Given the description of an element on the screen output the (x, y) to click on. 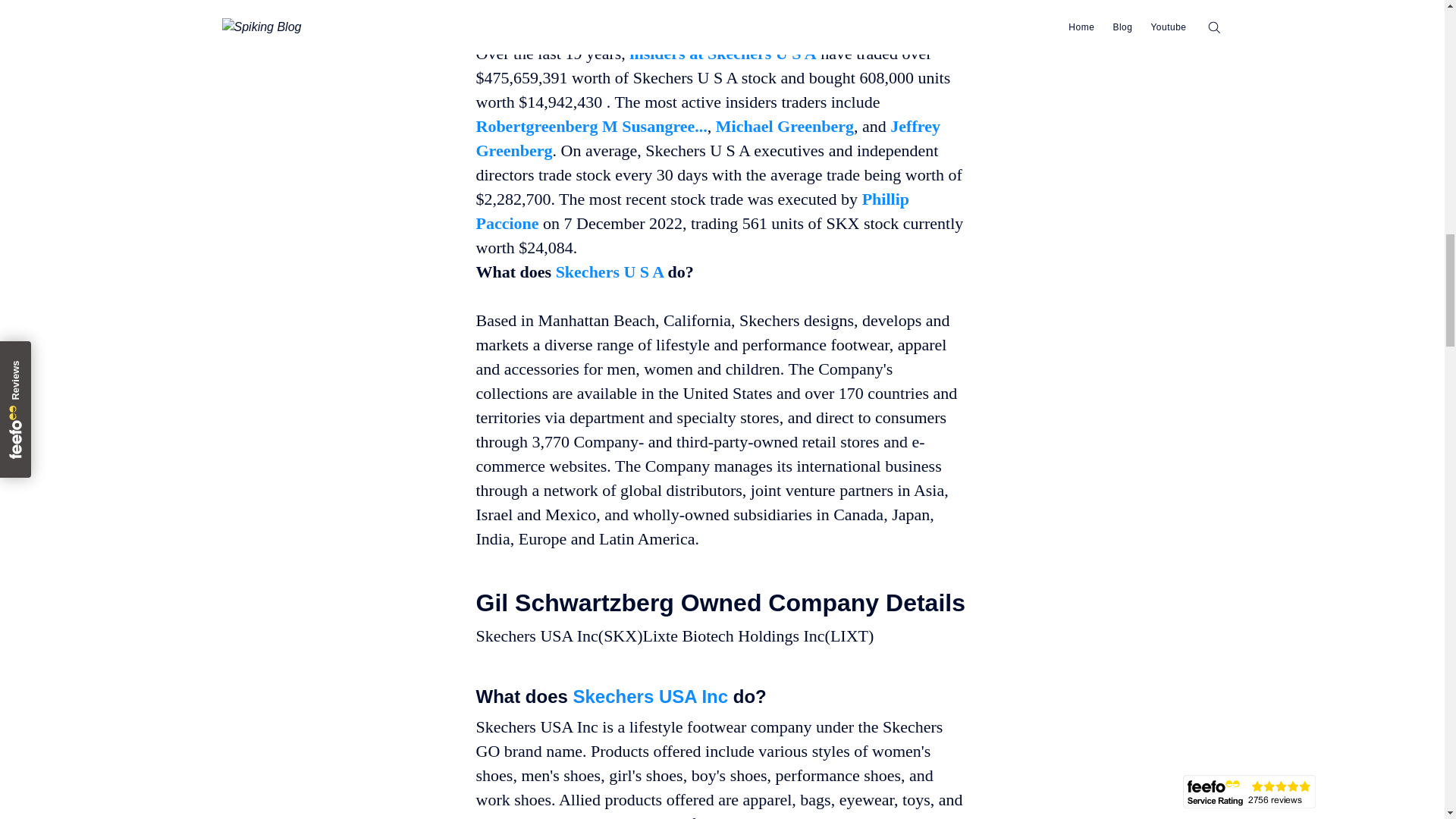
insiders at Skechers U S A (721, 53)
Michael Greenberg (784, 126)
Skechers USA Inc (651, 695)
Robertgreenberg M Susangree... (591, 126)
Phillip Paccione (692, 210)
Jeffrey Greenberg (708, 138)
Skechers U S A (609, 271)
